Given the description of an element on the screen output the (x, y) to click on. 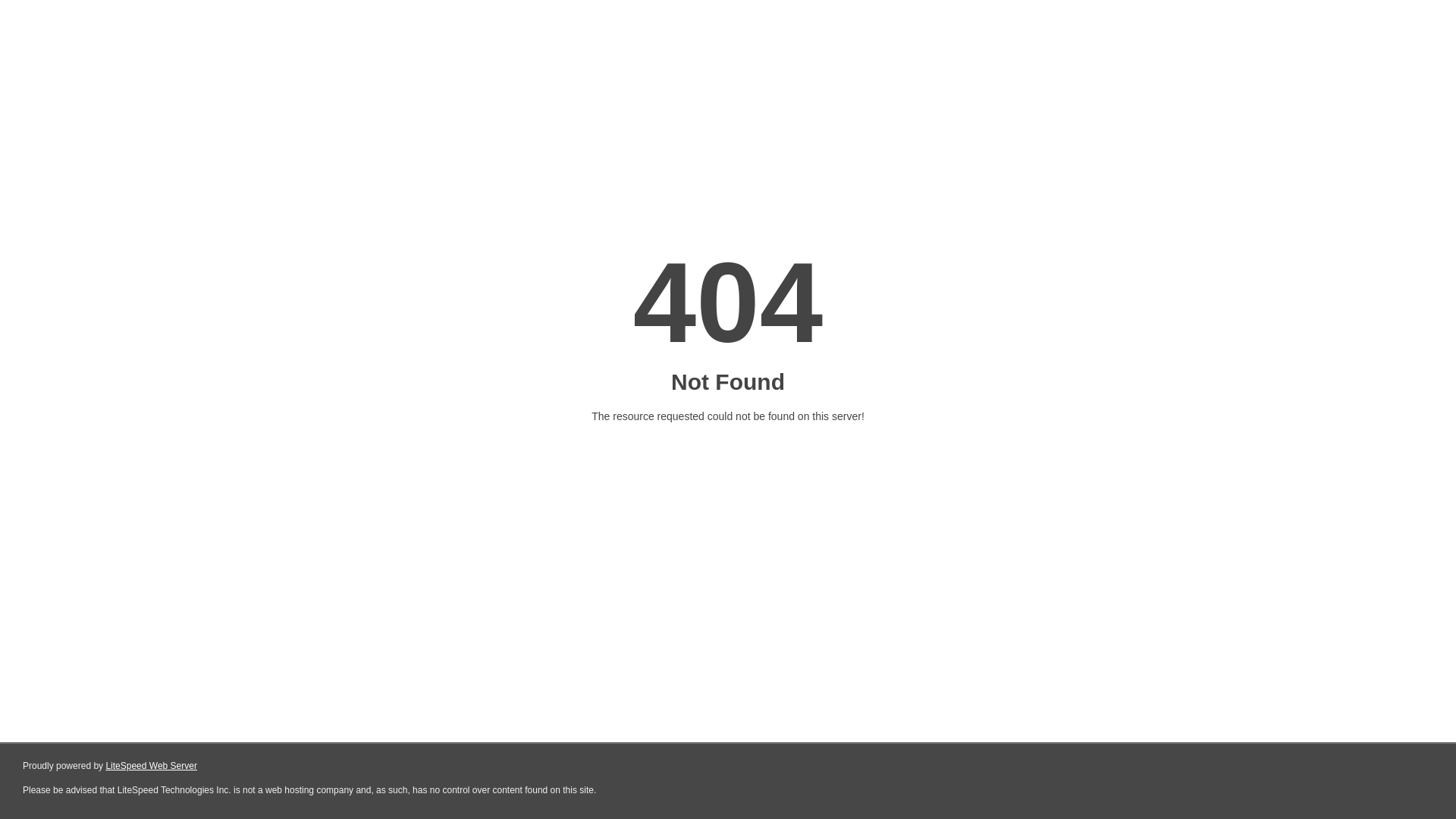
LiteSpeed Web Server Element type: text (151, 765)
